Given the description of an element on the screen output the (x, y) to click on. 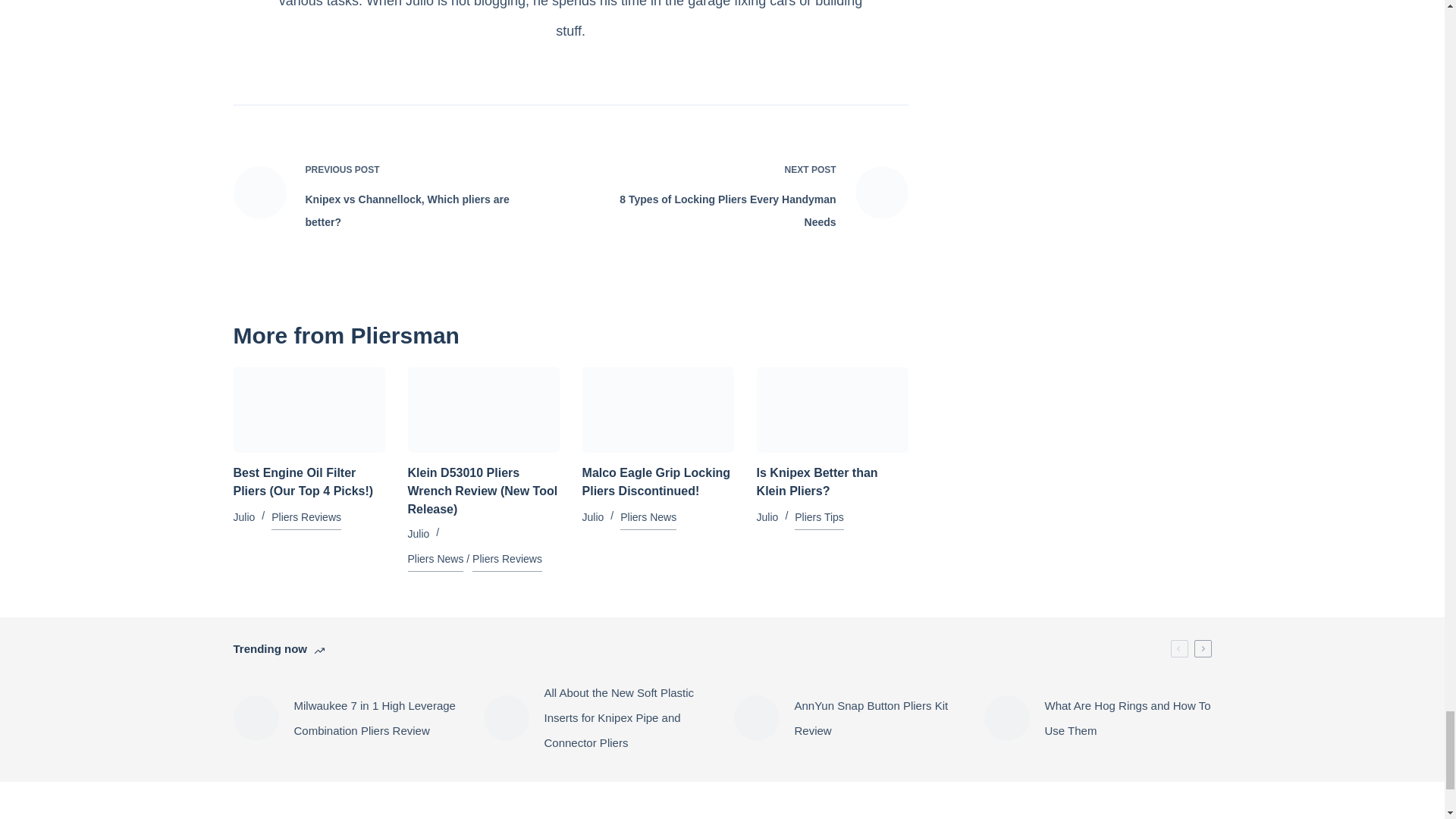
Posts by Julio (593, 517)
Posts by Julio (418, 533)
Posts by Julio (244, 517)
Posts by Julio (767, 517)
